Given the description of an element on the screen output the (x, y) to click on. 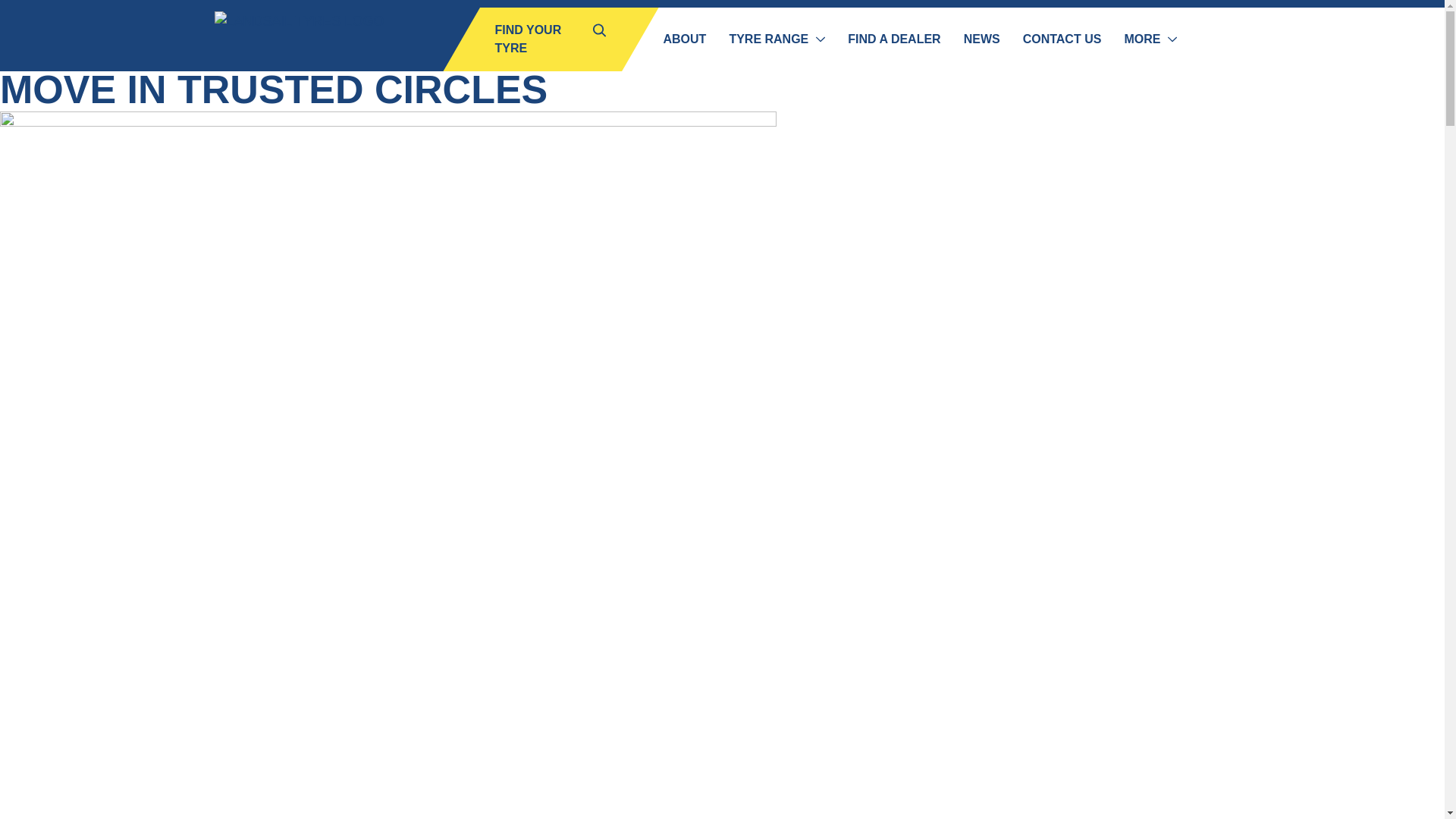
FIND A DEALER (893, 39)
ABOUT (684, 39)
NEWS (981, 39)
CONTACT US (1062, 39)
MORE (1150, 39)
TYRE RANGE (776, 39)
